Given the description of an element on the screen output the (x, y) to click on. 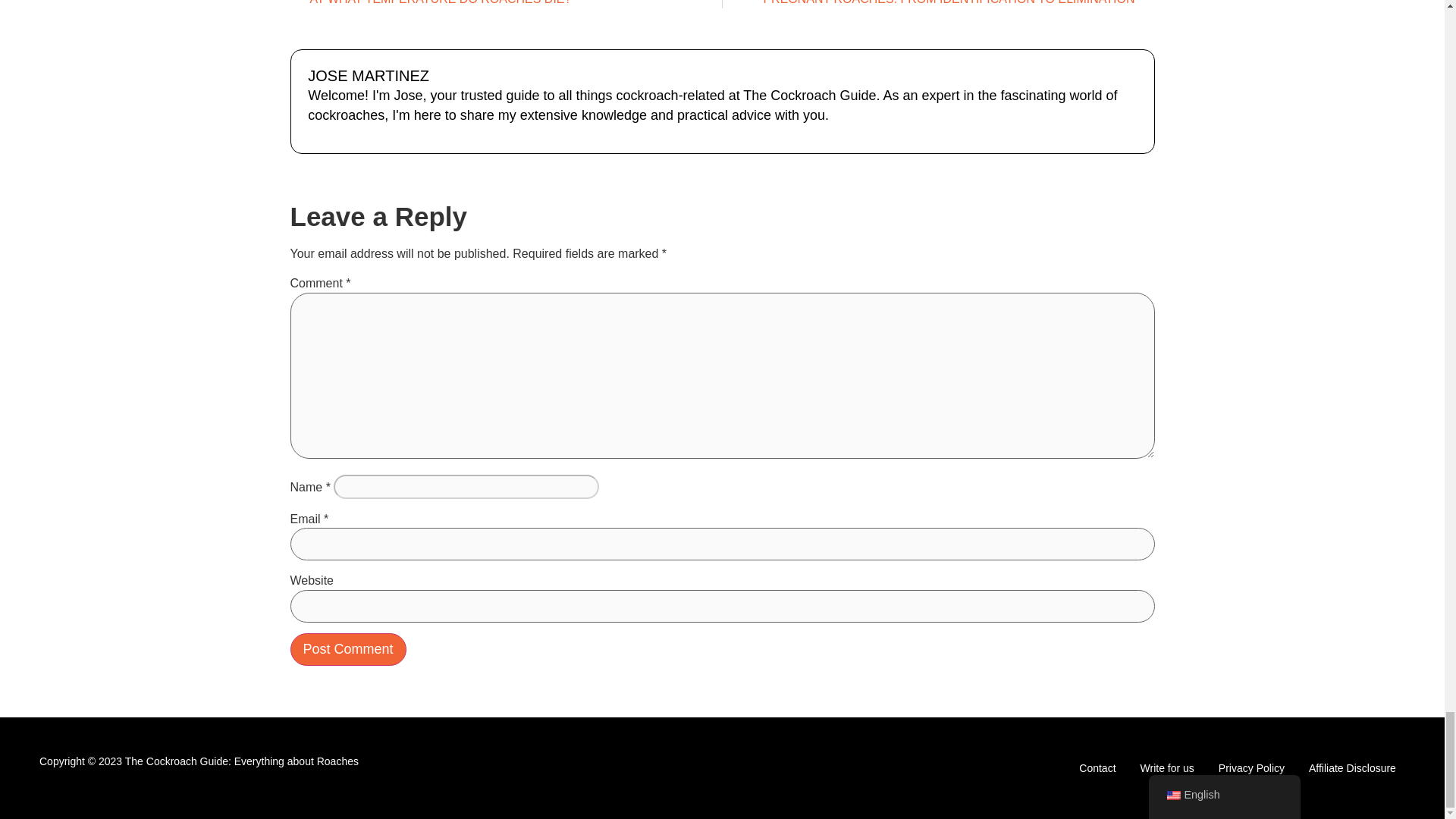
Post Comment (347, 649)
